Given the description of an element on the screen output the (x, y) to click on. 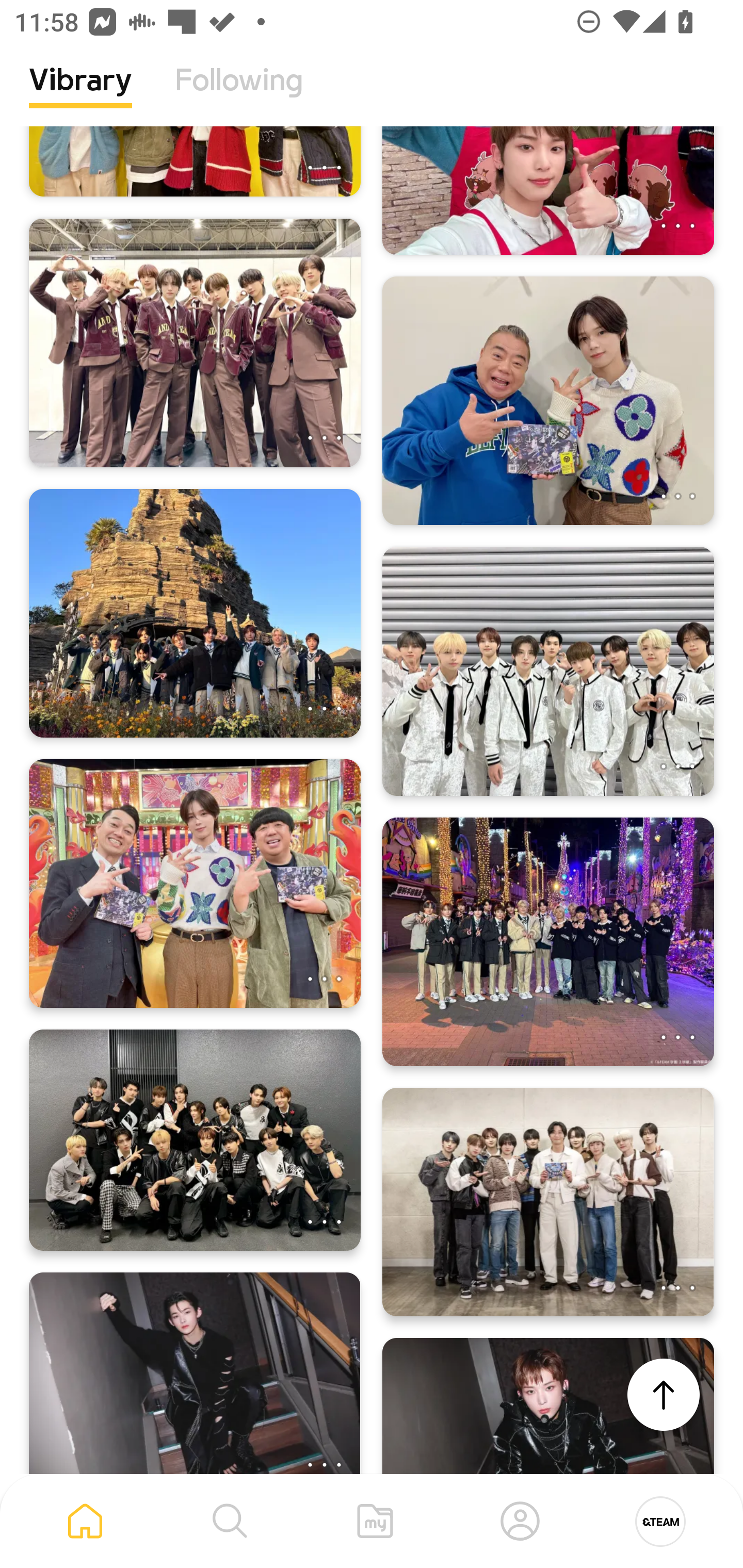
Vibrary (80, 95)
Following (239, 95)
